Given the description of an element on the screen output the (x, y) to click on. 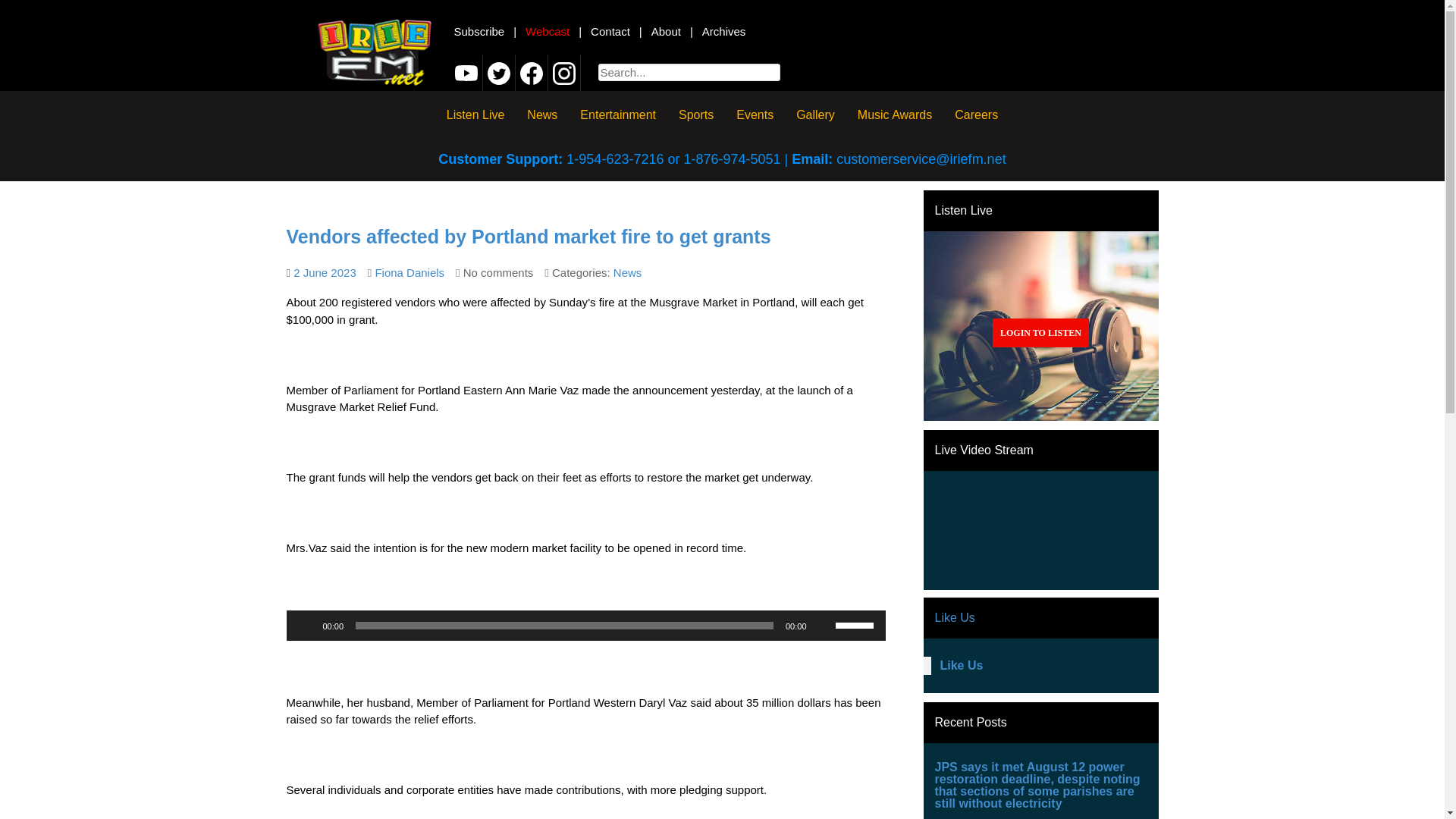
Mute (823, 625)
Events (754, 114)
Play (306, 625)
Fiona Daniels (409, 272)
Music Awards (894, 114)
News (627, 272)
Sports (695, 114)
Fiona Daniels (409, 272)
Archives (723, 31)
Webcast (547, 31)
